Given the description of an element on the screen output the (x, y) to click on. 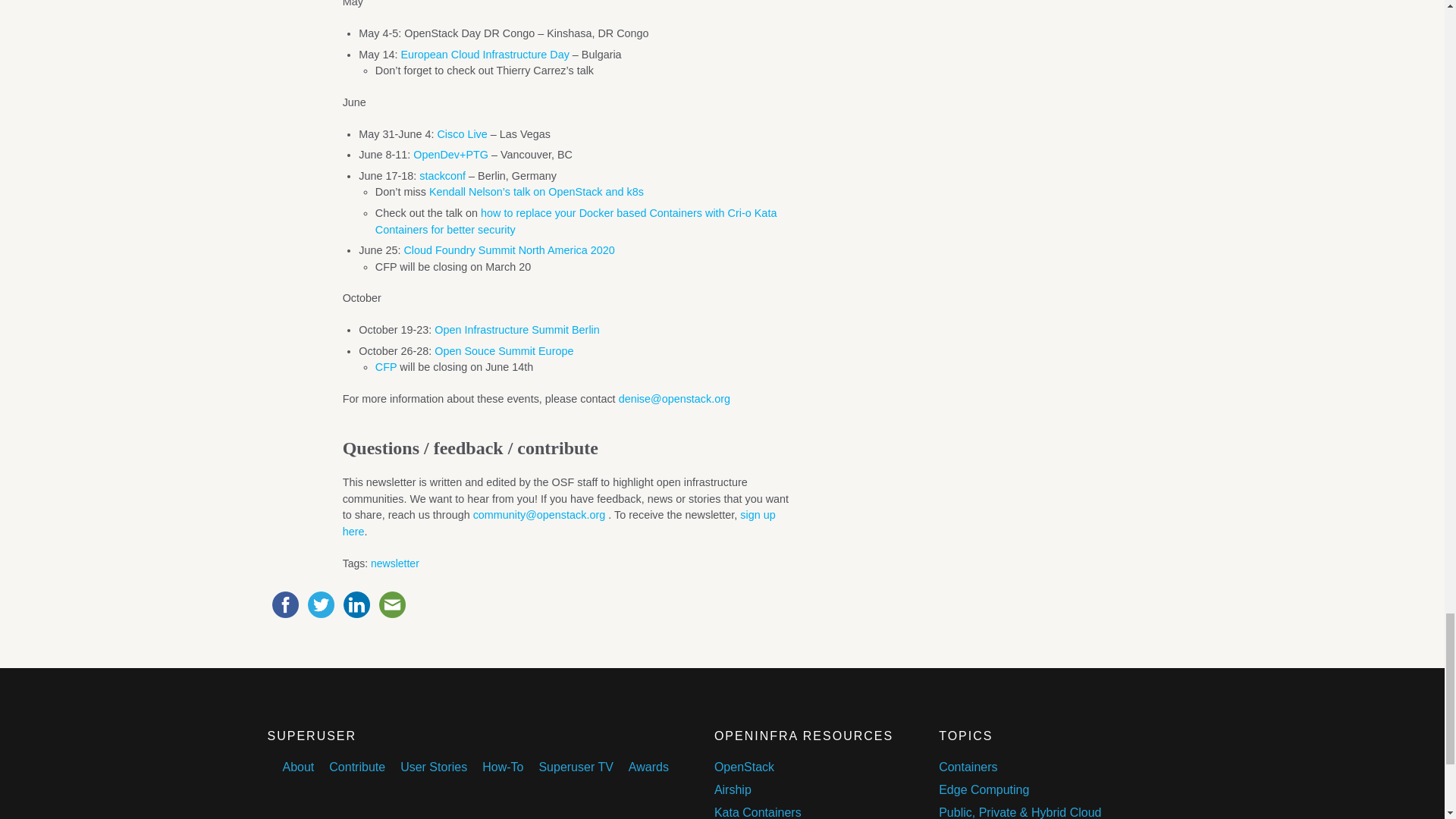
email (392, 604)
twitter (320, 604)
facebook (284, 604)
linkedin (355, 604)
